Given the description of an element on the screen output the (x, y) to click on. 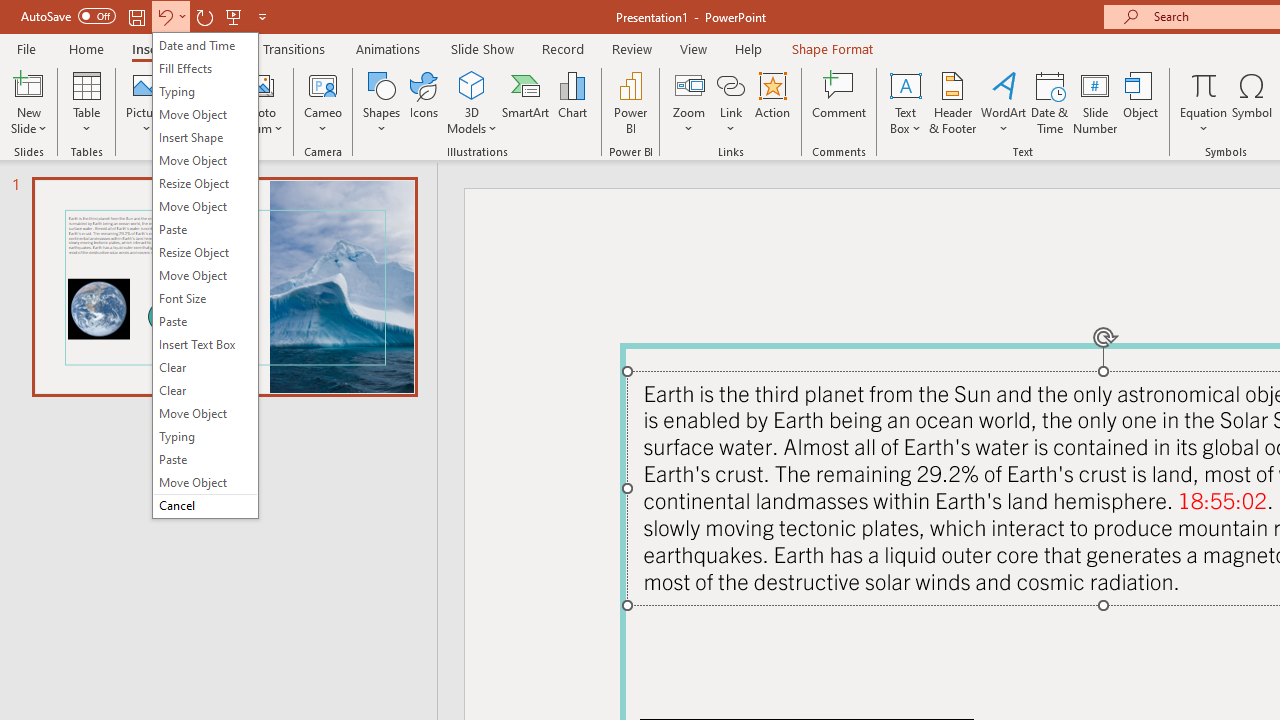
Review (631, 48)
3D Models (472, 84)
3D Models (472, 102)
Link (731, 102)
SmartArt... (525, 102)
Cameo (323, 84)
&Undo (205, 275)
Shape Format (832, 48)
File Tab (26, 48)
View (693, 48)
Text Box (905, 102)
Equation (1203, 102)
